Given the description of an element on the screen output the (x, y) to click on. 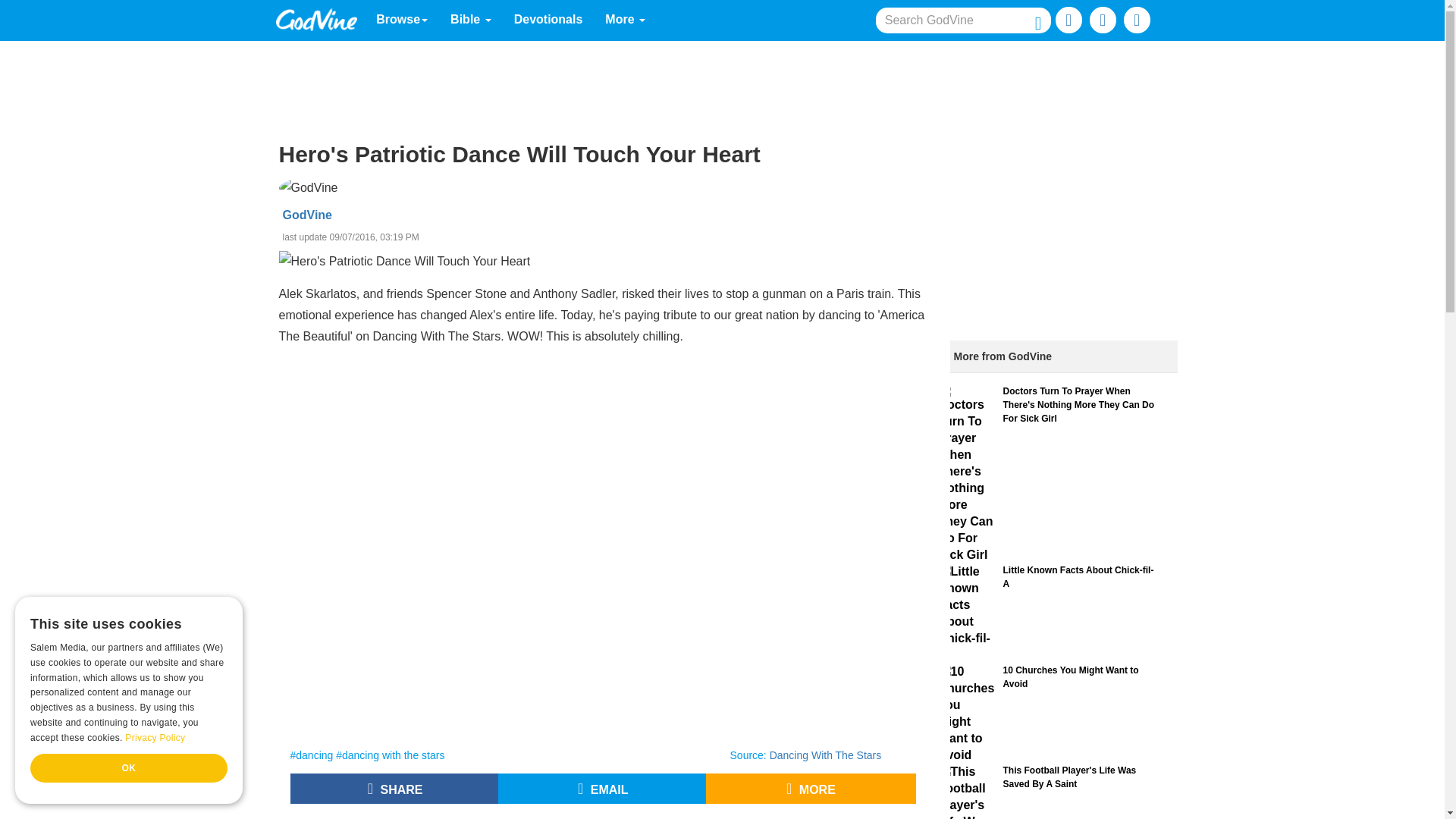
Browse (402, 19)
Bible (470, 19)
3rd party ad content (1062, 226)
3rd party ad content (721, 82)
3rd party ad content (608, 815)
